Given the description of an element on the screen output the (x, y) to click on. 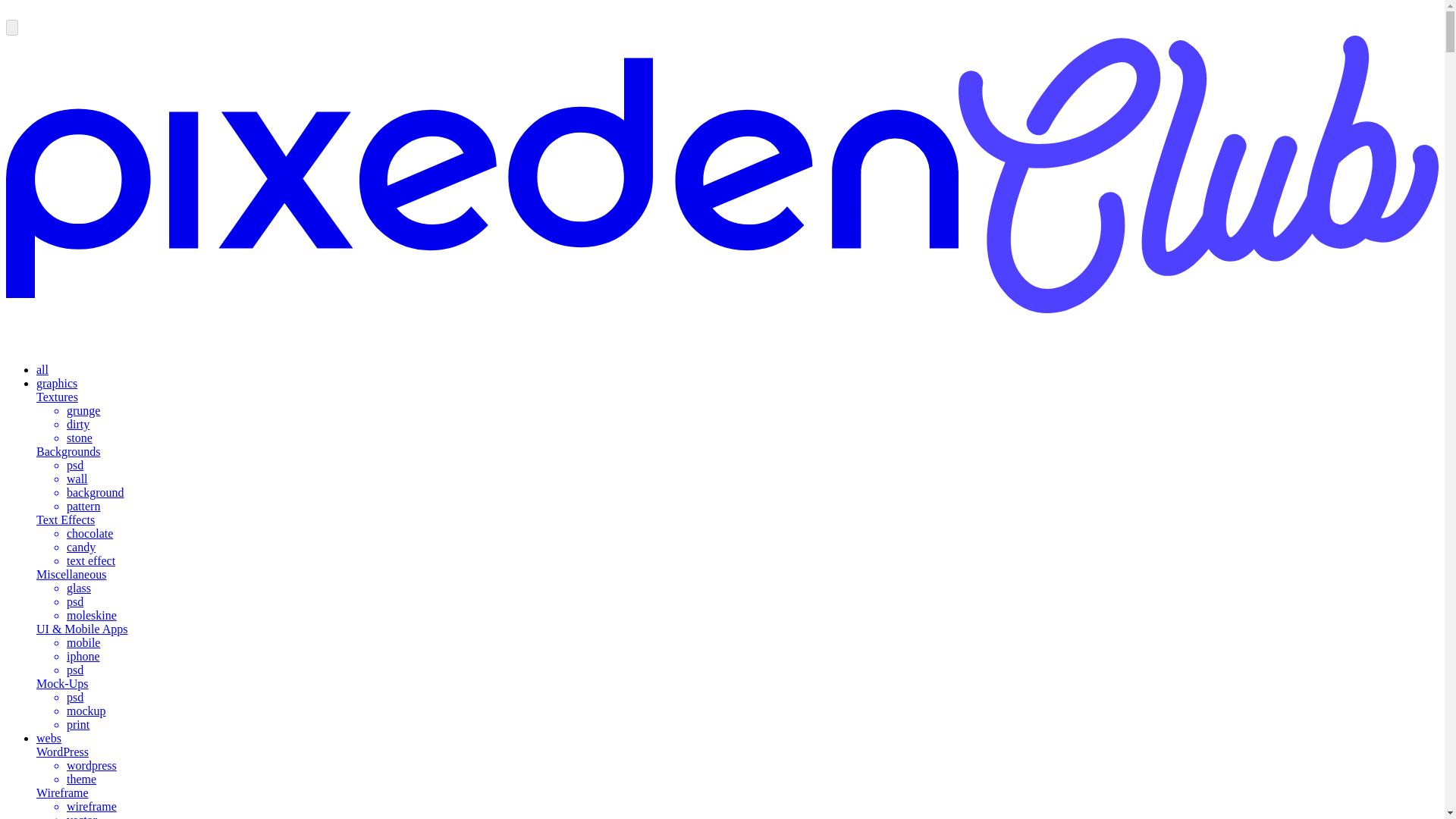
all (42, 369)
graphics (56, 382)
webs (48, 738)
